Given the description of an element on the screen output the (x, y) to click on. 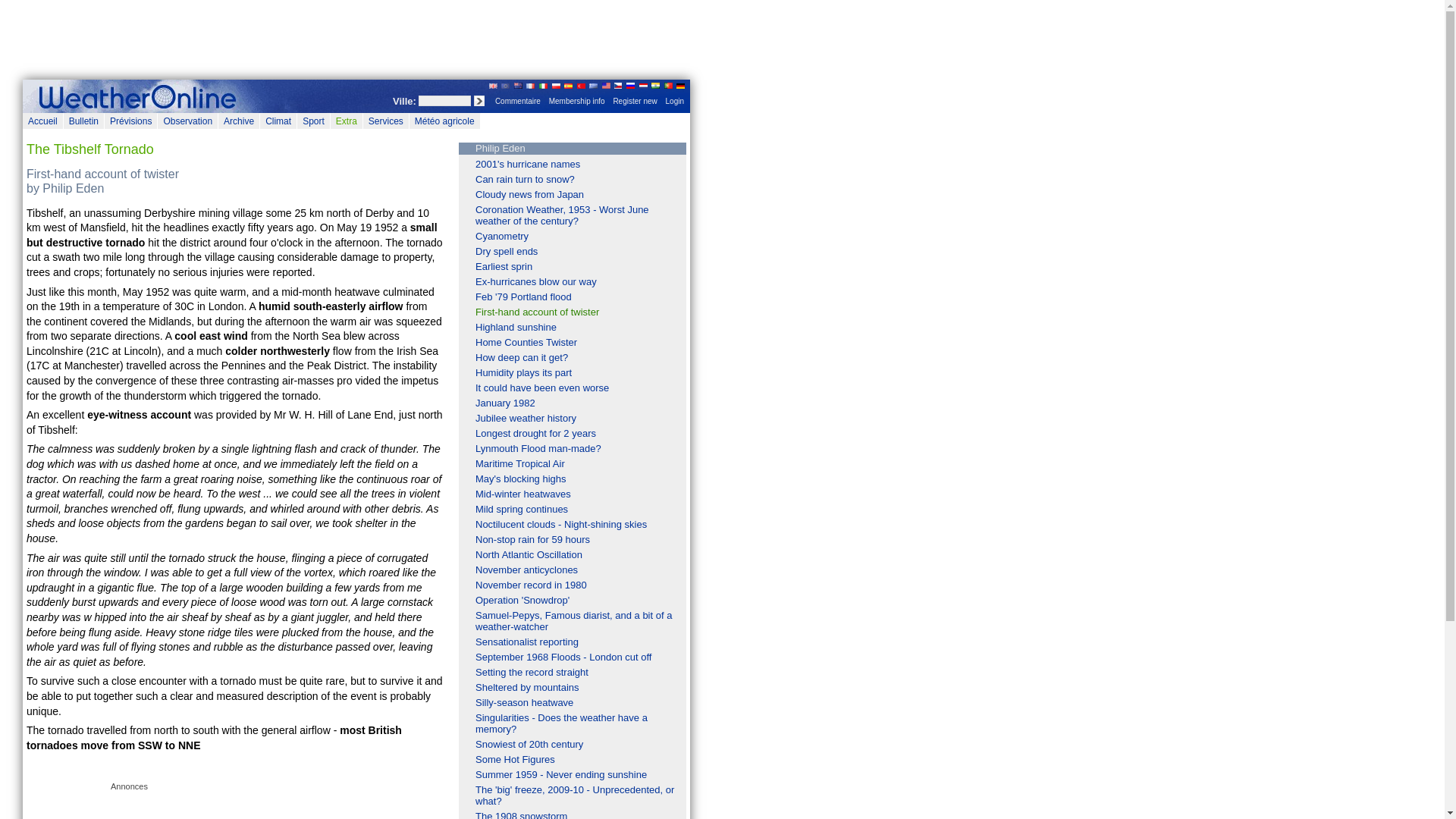
previsione Italia woitalia (542, 85)
Login (674, 101)
Observation (187, 121)
weather forecast USA WeatherOnline (606, 85)
weather forecast New Zealand WeatherOnline (517, 85)
wofrance (140, 96)
weather forecast United Kingdom WeatherOnline (493, 85)
weather forecast Europe WeatherOnline (504, 85)
Accueil (42, 121)
Commentaire (517, 101)
